Given the description of an element on the screen output the (x, y) to click on. 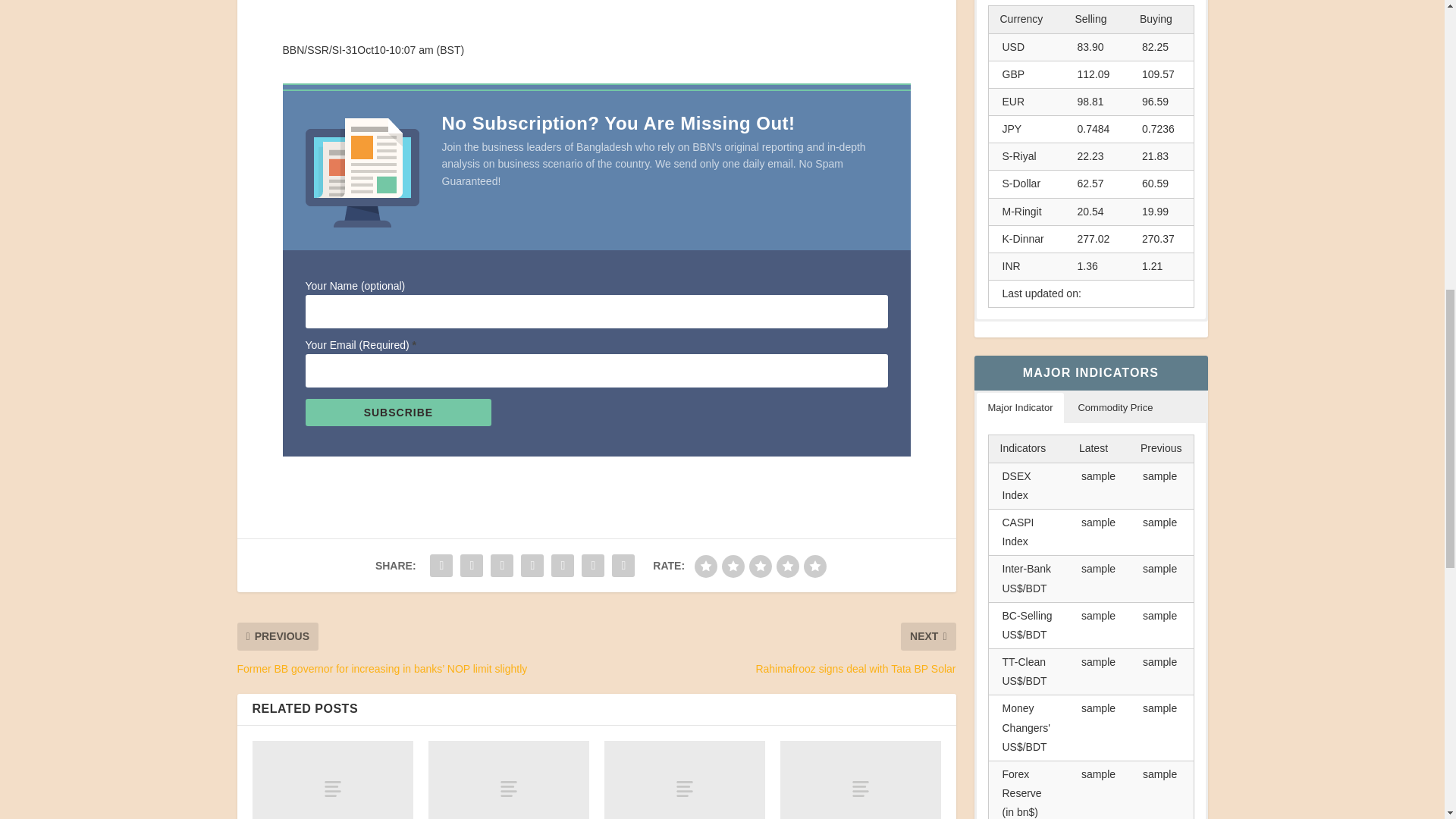
good (787, 566)
bad (705, 566)
Nine banks finance private ICD project (331, 780)
regular (760, 566)
One Bank to introduce mobile banking services (508, 780)
poor (733, 566)
gorgeous (815, 566)
Advertisement (596, 20)
